Given the description of an element on the screen output the (x, y) to click on. 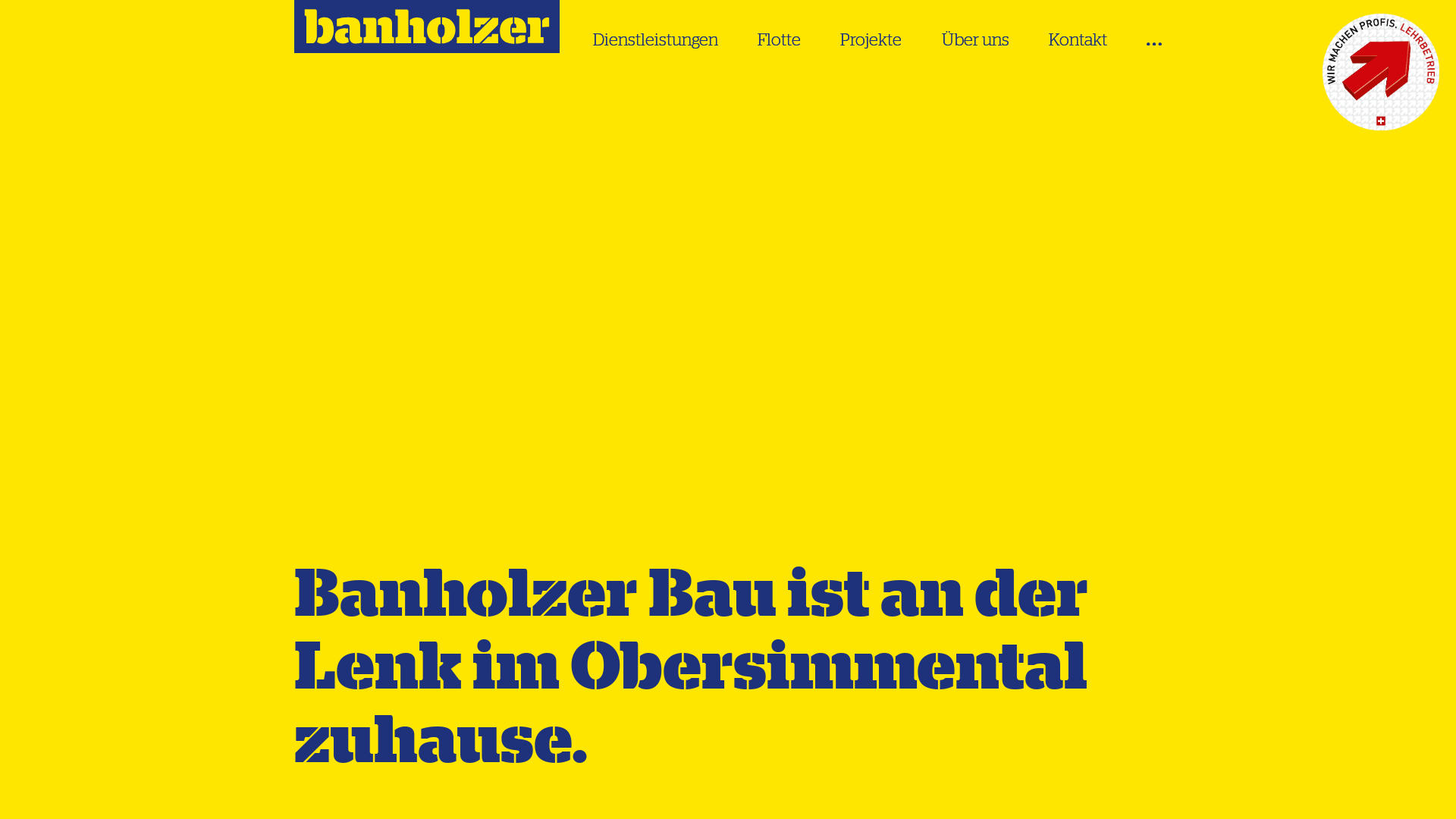
Projekte Element type: text (870, 39)
Kontakt Element type: text (1077, 39)
Flotte Element type: text (778, 39)
Dienstleistungen Element type: text (655, 39)
